Given the description of an element on the screen output the (x, y) to click on. 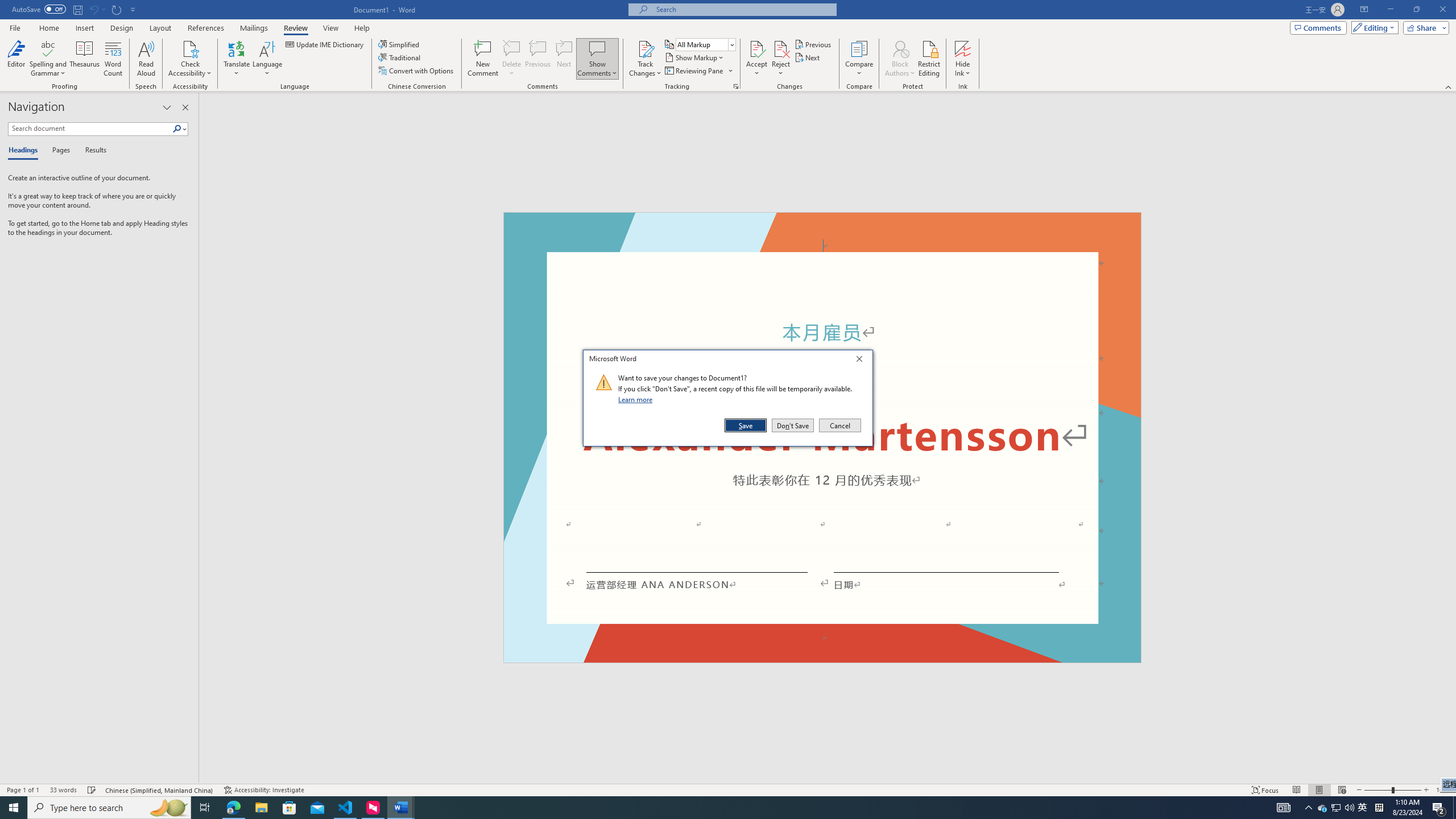
Change Tracking Options... (735, 85)
Block Authors (900, 48)
Can't Undo (96, 9)
Microsoft Edge - 1 running window (233, 807)
Learn more (636, 399)
Show Comments (597, 48)
Check Accessibility (189, 48)
Restrict Editing (929, 58)
